Given the description of an element on the screen output the (x, y) to click on. 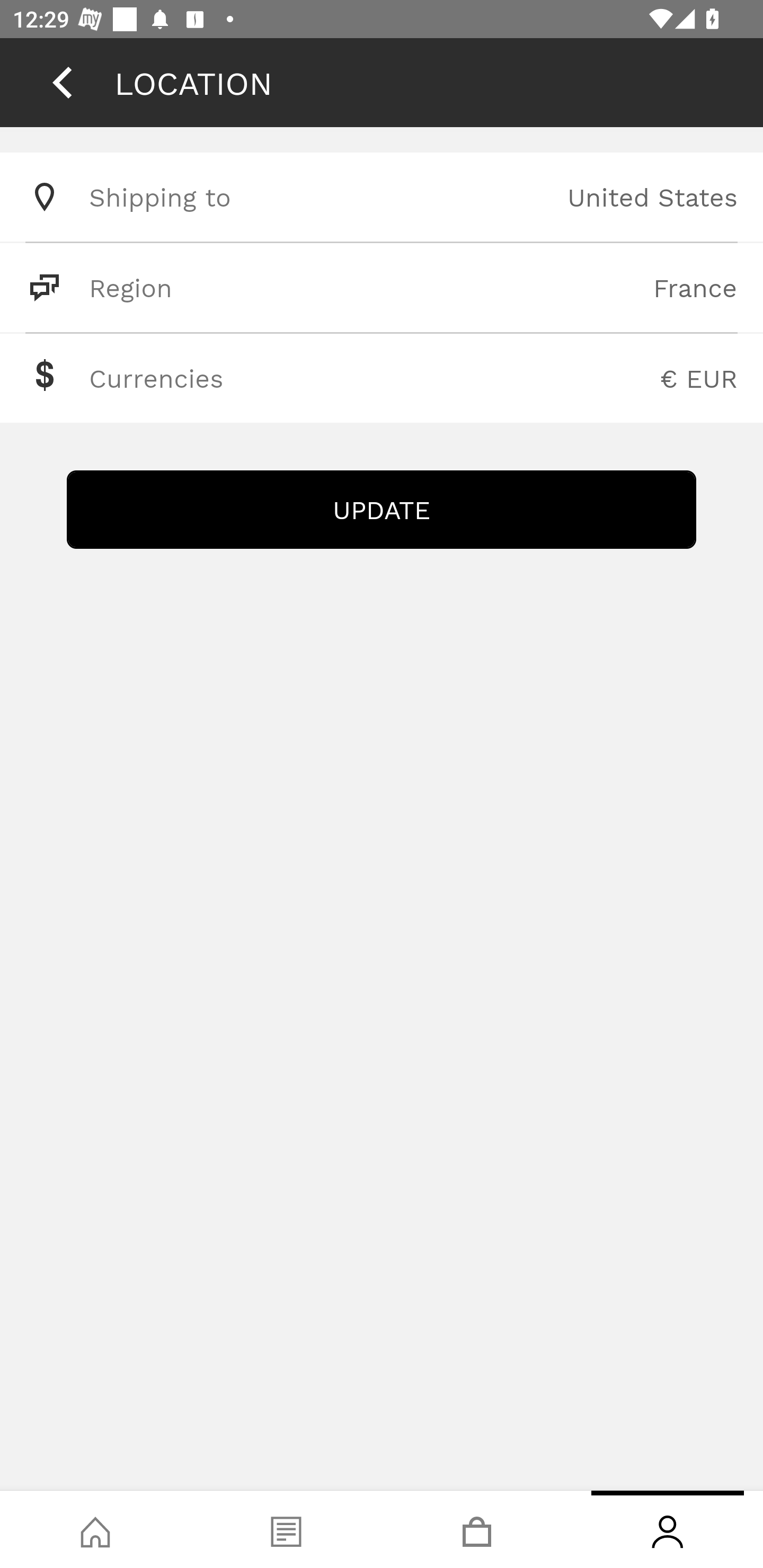
ACCOUNT, back (61, 82)
Shipping to Shipping to United States (381, 196)
Region Region France (381, 287)
Currencies Currencies € EUR (381, 378)
Update UPDATE (381, 509)
Shop, tab, 1 of 4 (95, 1529)
Blog, tab, 2 of 4 (285, 1529)
Basket, tab, 3 of 4 (476, 1529)
Account, tab, 4 of 4 (667, 1529)
